Given the description of an element on the screen output the (x, y) to click on. 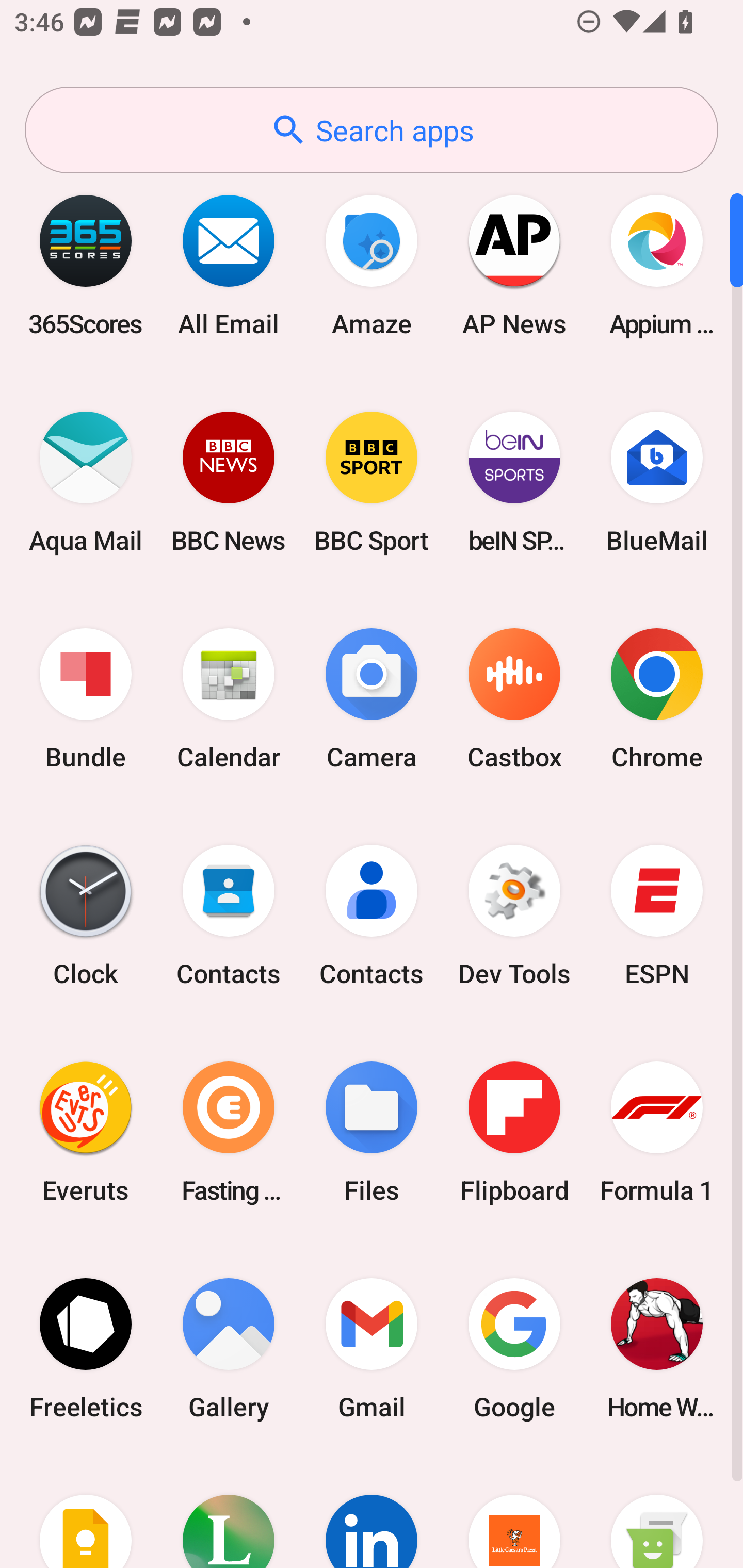
  Search apps (371, 130)
365Scores (85, 264)
All Email (228, 264)
Amaze (371, 264)
AP News (514, 264)
Appium Settings (656, 264)
Aqua Mail (85, 482)
BBC News (228, 482)
BBC Sport (371, 482)
beIN SPORTS (514, 482)
BlueMail (656, 482)
Bundle (85, 699)
Calendar (228, 699)
Camera (371, 699)
Castbox (514, 699)
Chrome (656, 699)
Clock (85, 915)
Contacts (228, 915)
Contacts (371, 915)
Dev Tools (514, 915)
ESPN (656, 915)
Everuts (85, 1131)
Fasting Coach (228, 1131)
Files (371, 1131)
Flipboard (514, 1131)
Formula 1 (656, 1131)
Freeletics (85, 1348)
Gallery (228, 1348)
Gmail (371, 1348)
Google (514, 1348)
Home Workout (656, 1348)
Keep Notes (85, 1512)
Lifesum (228, 1512)
LinkedIn (371, 1512)
Little Caesars Pizza (514, 1512)
Messaging (656, 1512)
